Given the description of an element on the screen output the (x, y) to click on. 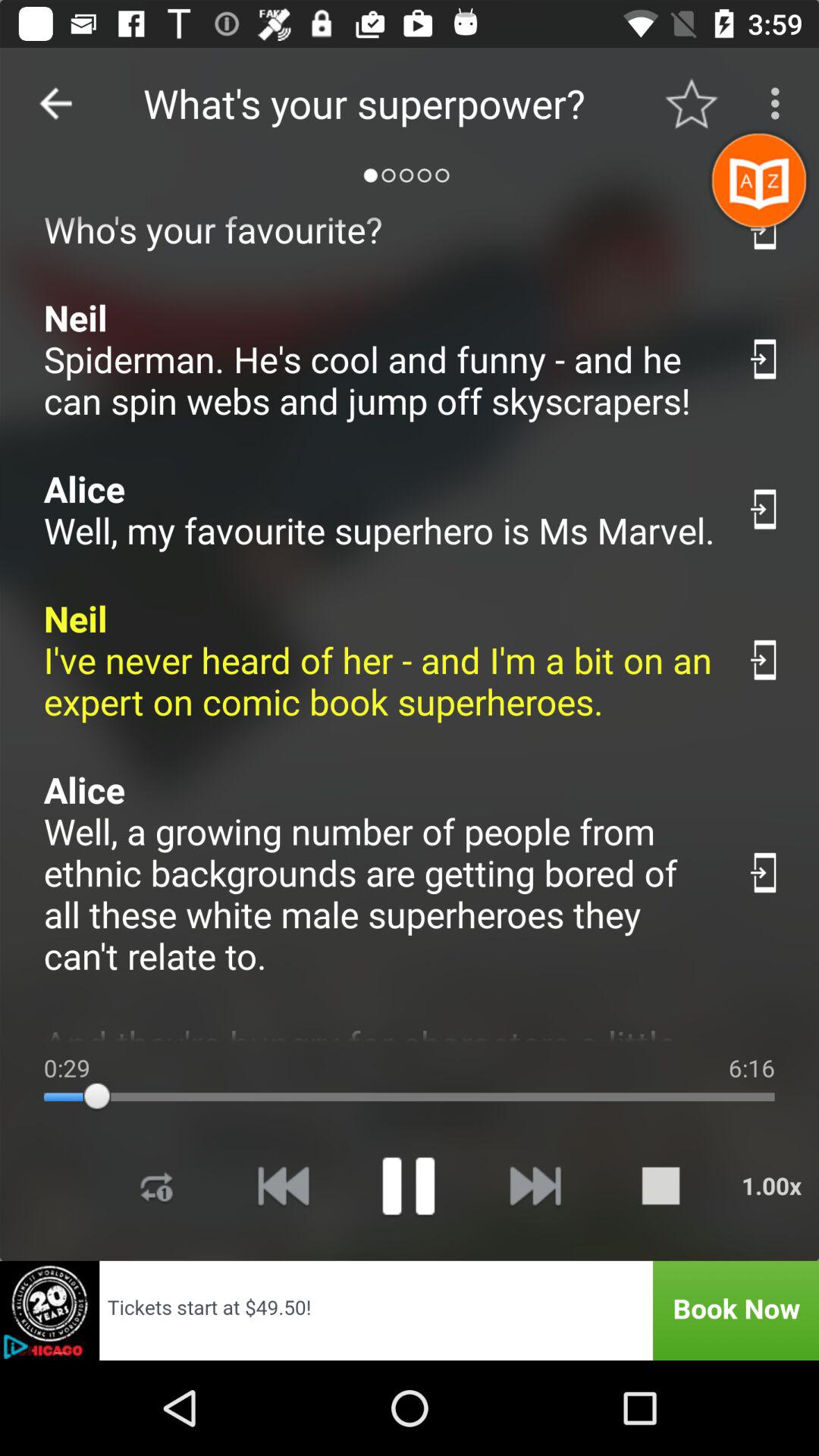
book tickets (409, 1310)
